Given the description of an element on the screen output the (x, y) to click on. 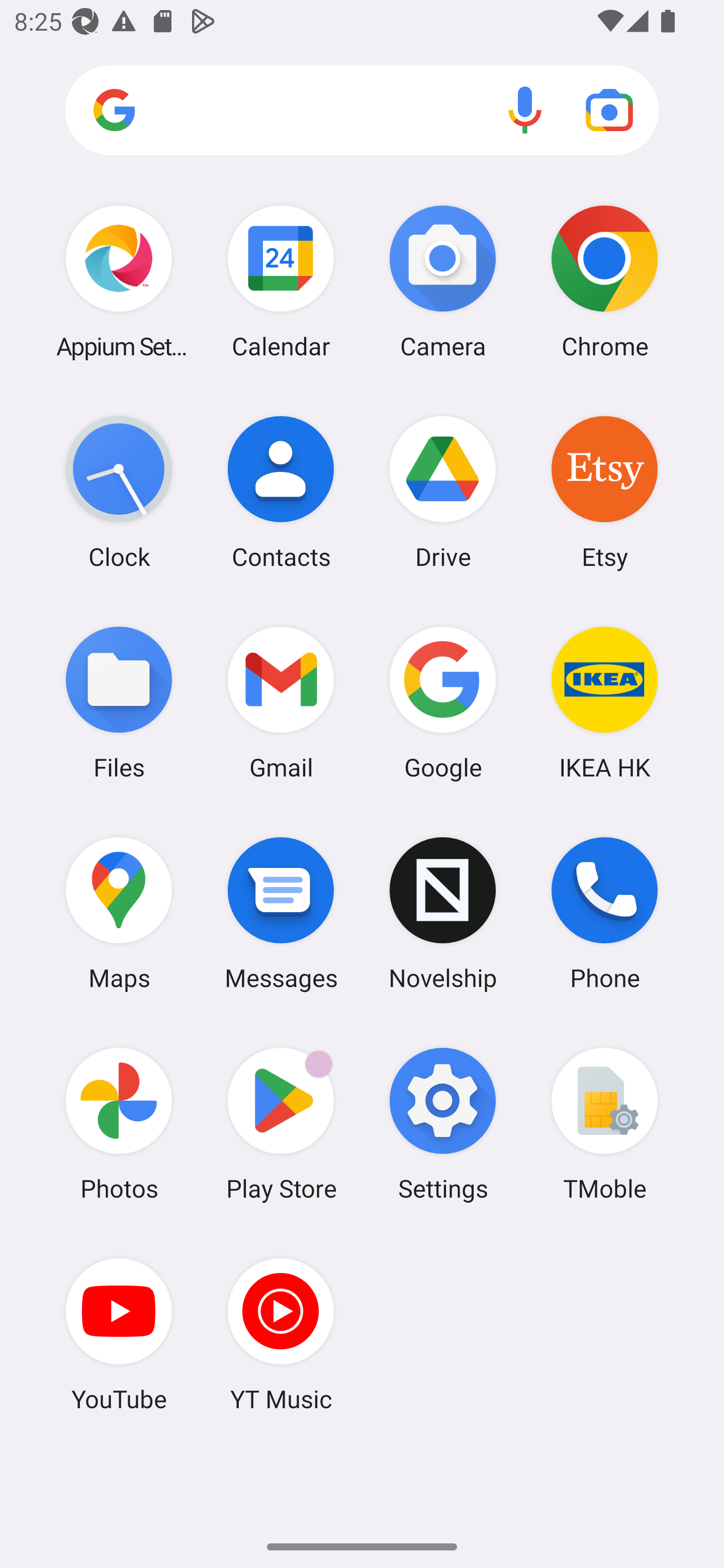
Search apps, web and more (361, 110)
Voice search (524, 109)
Google Lens (608, 109)
Appium Settings (118, 281)
Calendar (280, 281)
Camera (443, 281)
Chrome (604, 281)
Clock (118, 492)
Contacts (280, 492)
Drive (443, 492)
Etsy (604, 492)
Files (118, 702)
Gmail (280, 702)
Google (443, 702)
IKEA HK (604, 702)
Maps (118, 913)
Messages (280, 913)
Novelship (443, 913)
Phone (604, 913)
Photos (118, 1124)
Play Store Play Store has 1 notification (280, 1124)
Settings (443, 1124)
TMoble (604, 1124)
YouTube (118, 1334)
YT Music (280, 1334)
